Given the description of an element on the screen output the (x, y) to click on. 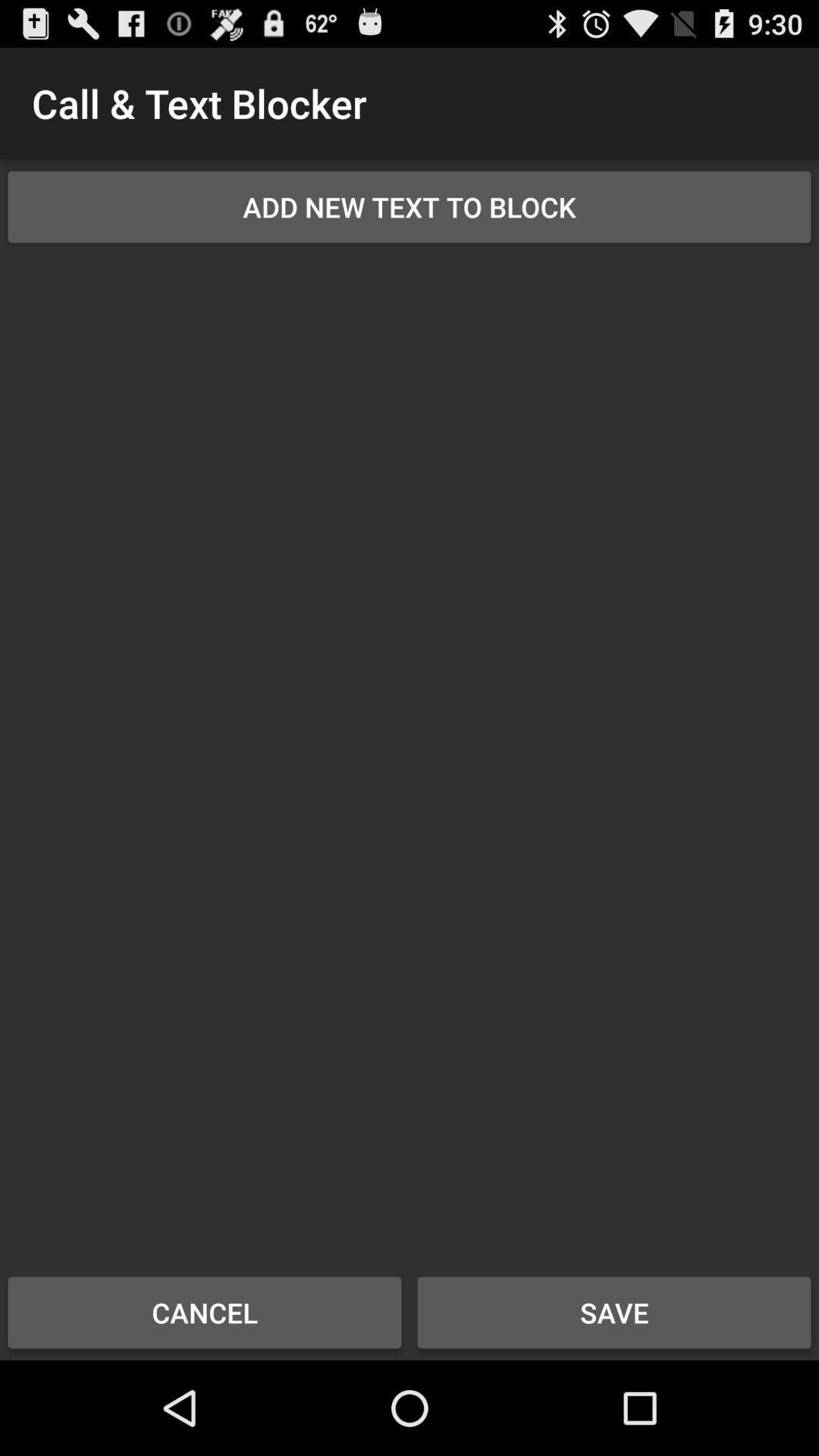
turn off the item at the bottom right corner (614, 1312)
